Given the description of an element on the screen output the (x, y) to click on. 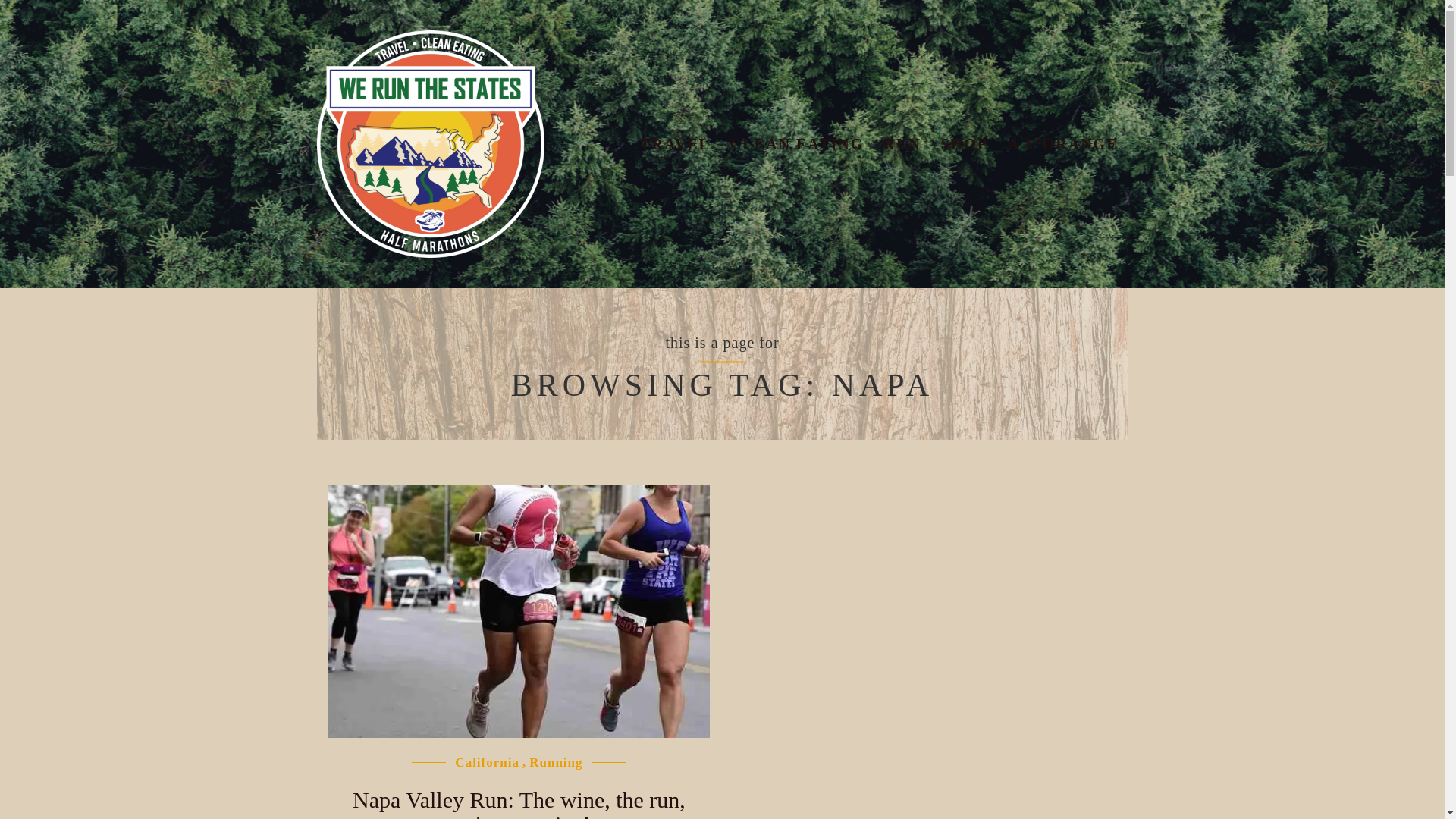
RUN (901, 143)
TRAVEL (675, 143)
Napa Valley Run: The wine, the run, and more wine! (518, 803)
CLEAN EATING (796, 143)
Running (555, 762)
California (486, 762)
SHOP (964, 143)
